Given the description of an element on the screen output the (x, y) to click on. 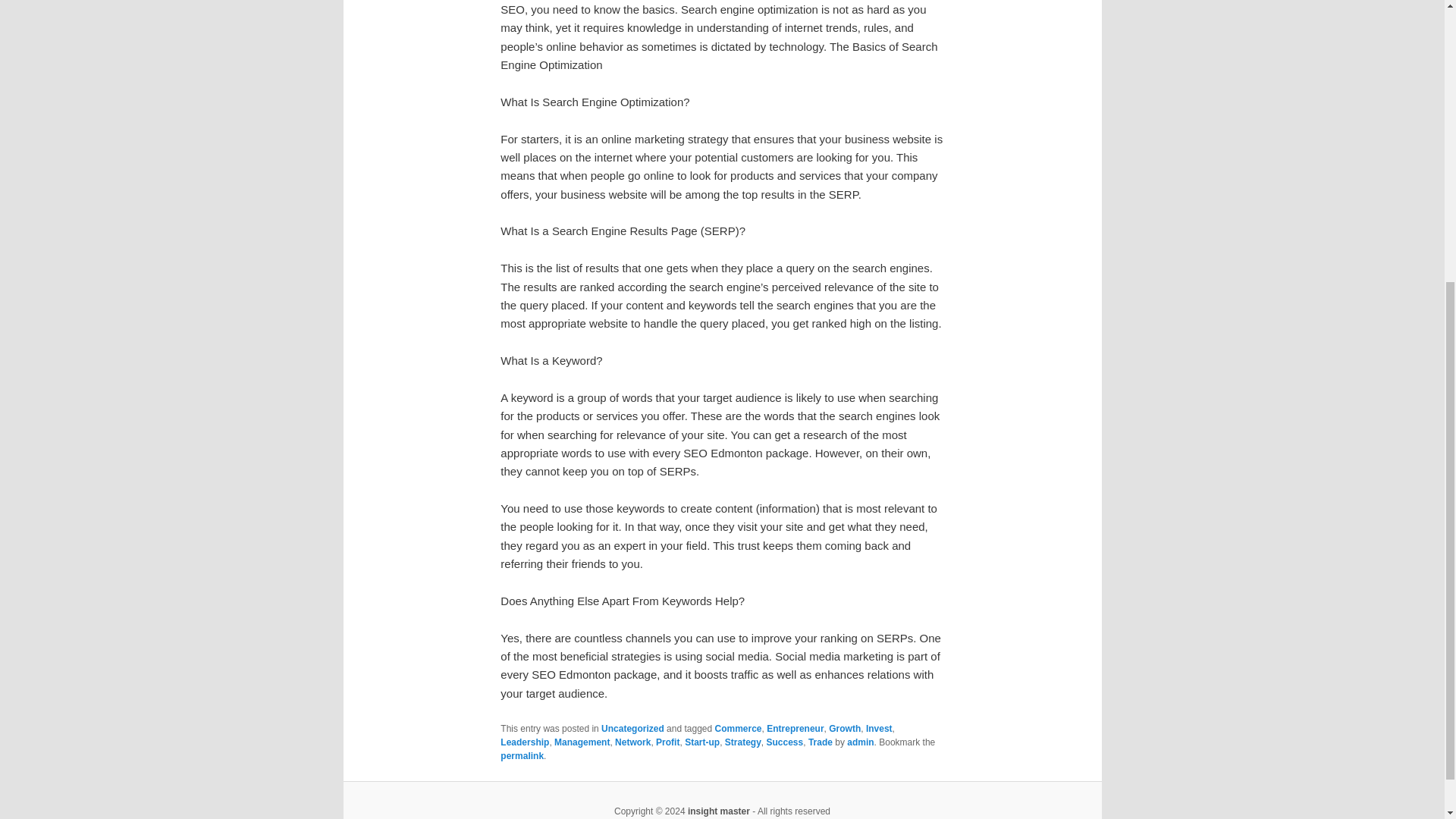
insight master (718, 810)
Invest (879, 728)
Leadership (524, 742)
admin (860, 742)
Growth (844, 728)
insight master (718, 810)
Profit (667, 742)
Management (582, 742)
Network (632, 742)
View all posts in Uncategorized (632, 728)
